Given the description of an element on the screen output the (x, y) to click on. 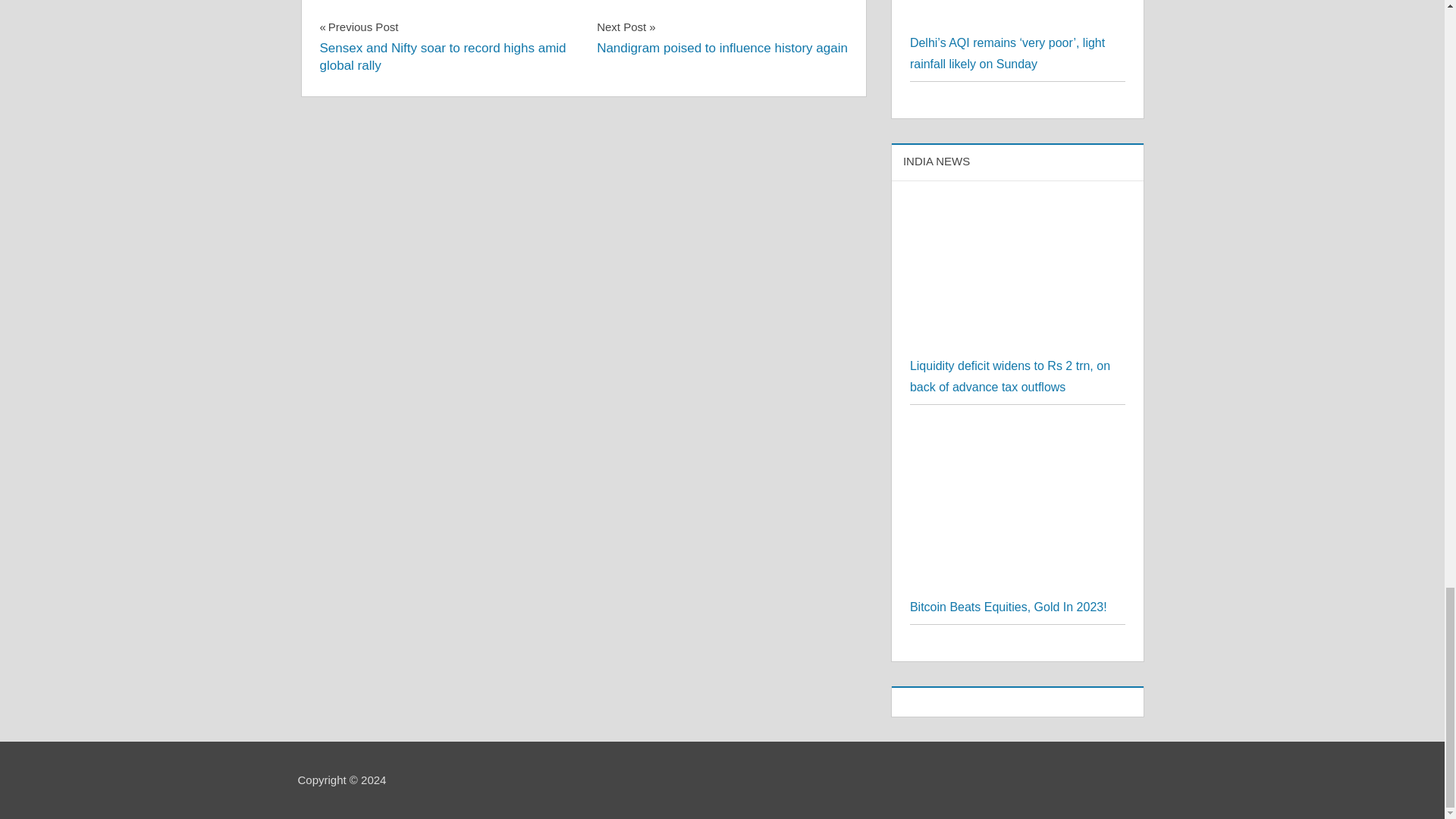
Bitcoin Beats Equities, Gold In 2023! (721, 37)
Bitcoin Beats Equities, Gold In 2023! (1008, 606)
WORLD (1017, 432)
